Given the description of an element on the screen output the (x, y) to click on. 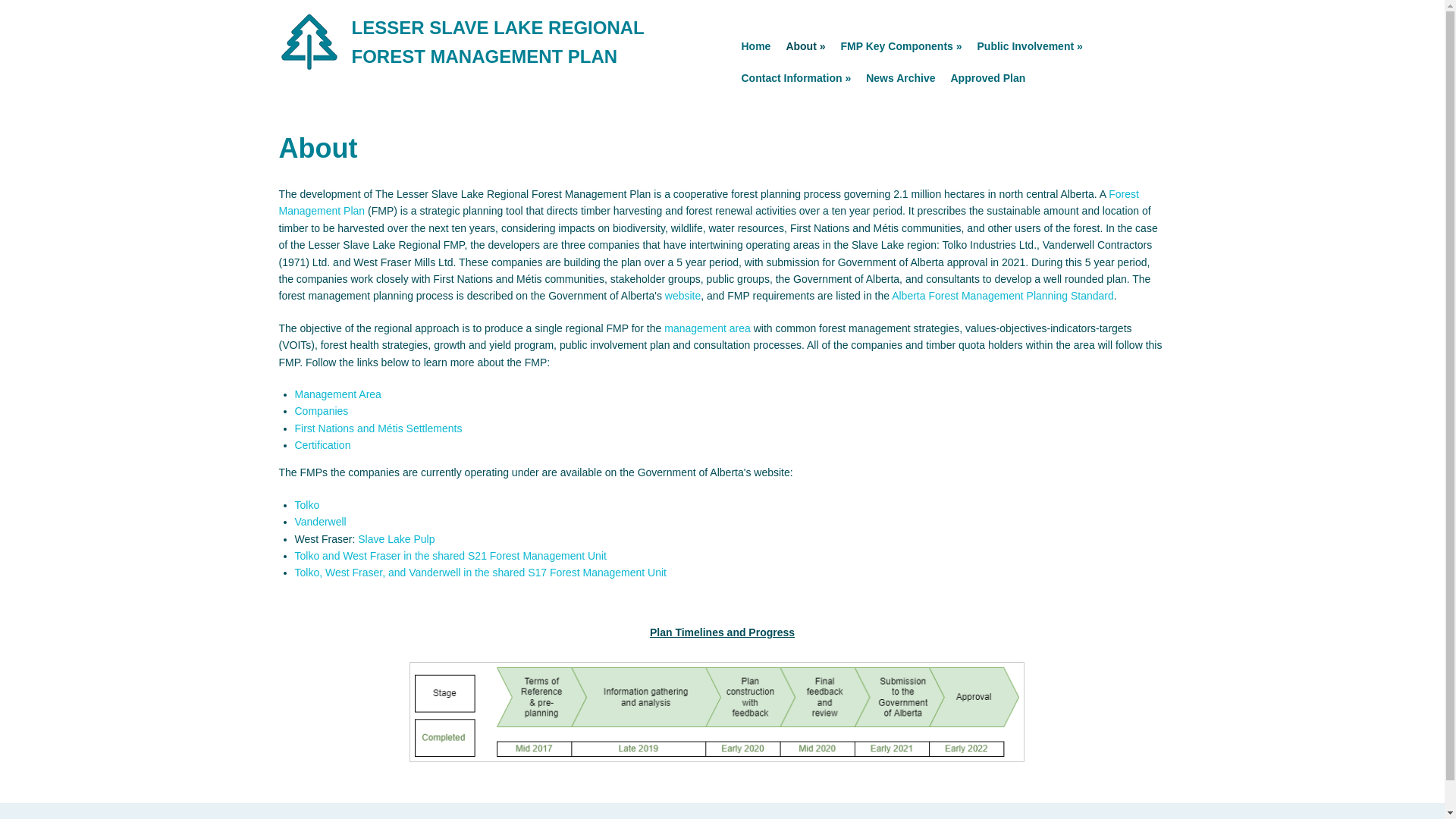
Home (498, 41)
management area (707, 328)
Tolko (306, 504)
LESSER SLAVE LAKE REGIONAL FOREST MANAGEMENT PLAN (498, 41)
Home (755, 46)
Management Area (337, 394)
Certification (322, 444)
Alberta Forest Management Planning Standard (1002, 295)
Companies (320, 410)
